Given the description of an element on the screen output the (x, y) to click on. 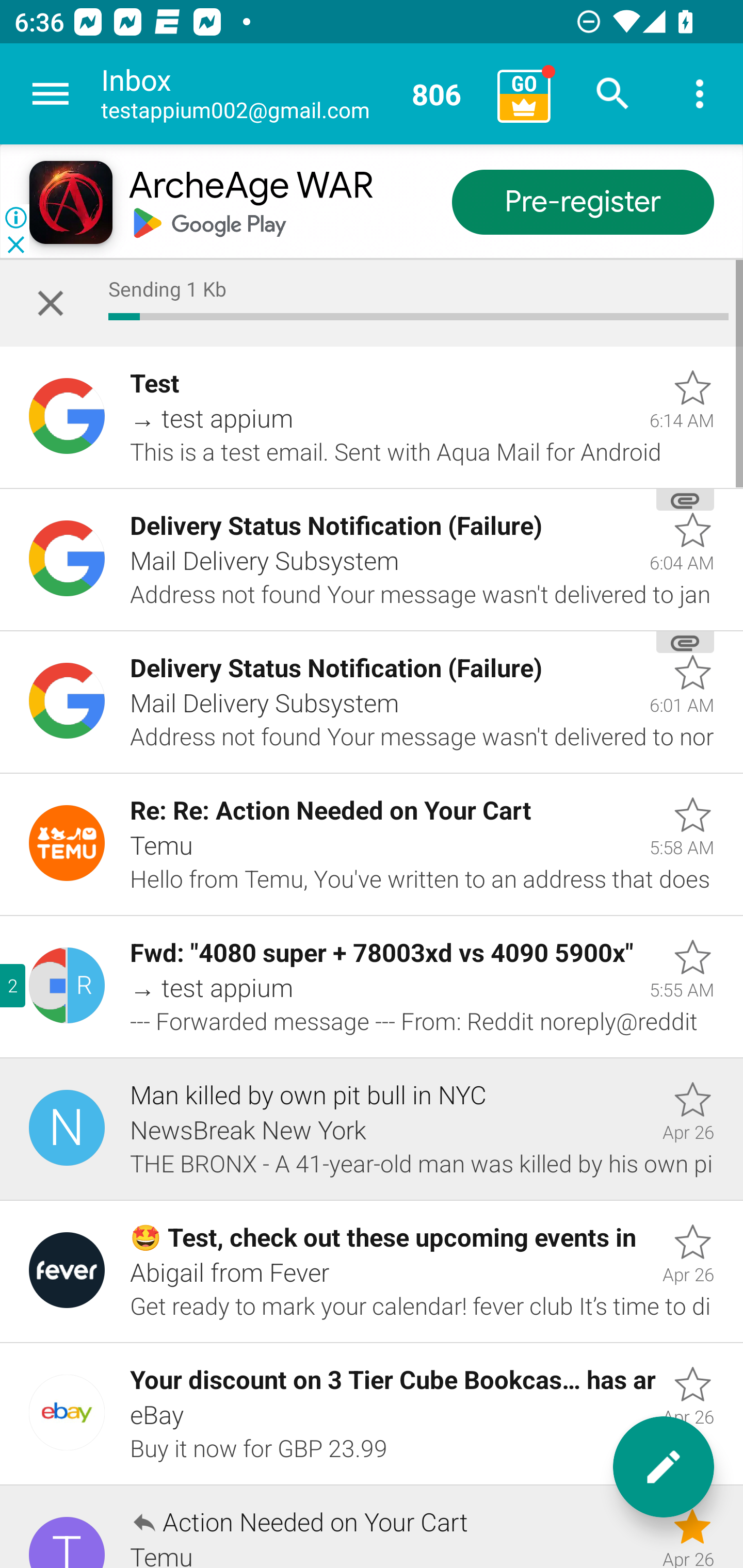
Navigate up (50, 93)
Inbox testappium002@gmail.com 806 (291, 93)
Search (612, 93)
More options (699, 93)
ArcheAge WAR (250, 186)
Pre-register (582, 202)
Sending 1 Kb 5.0 (371, 303)
New message (663, 1466)
